Given the description of an element on the screen output the (x, y) to click on. 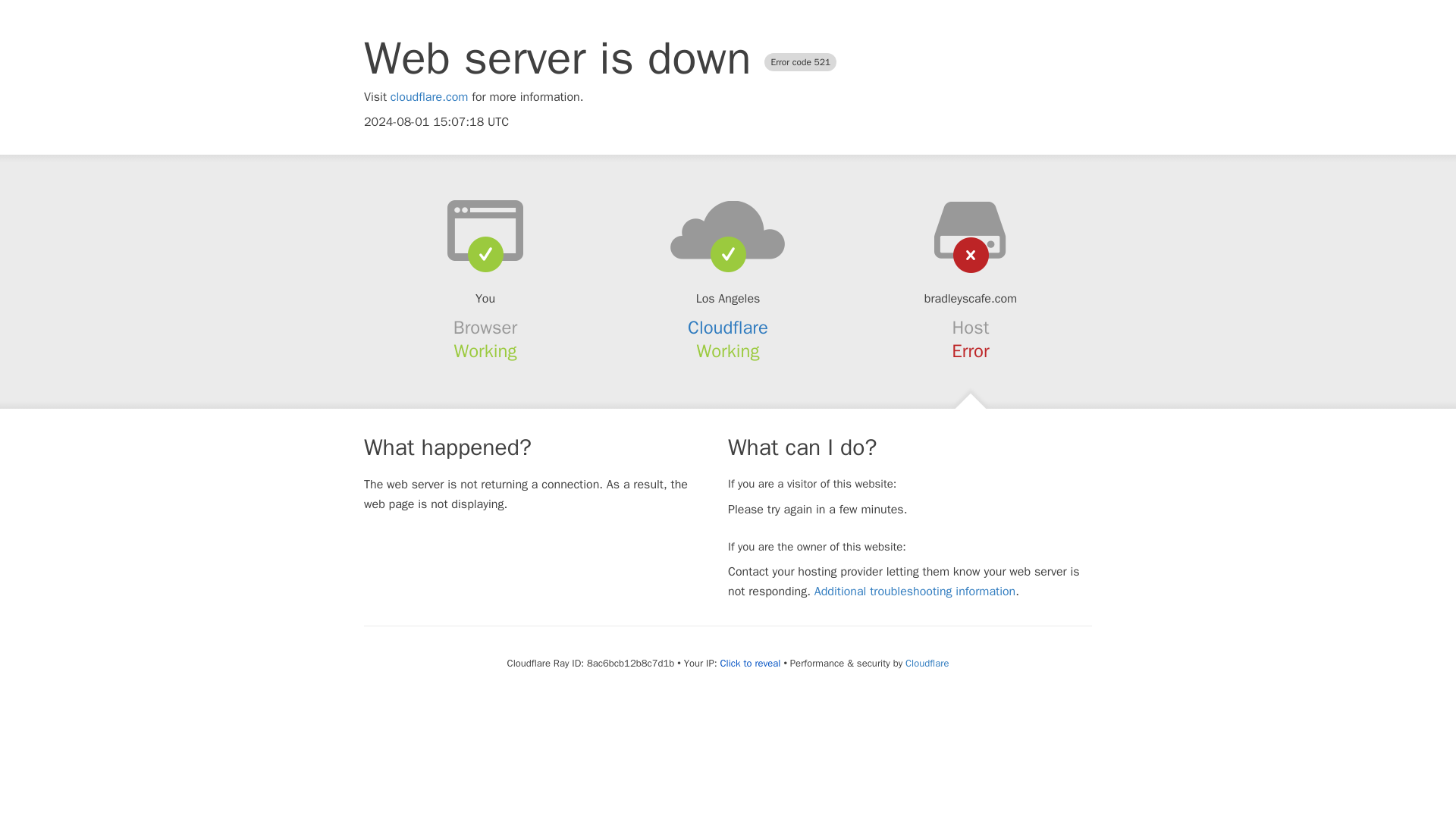
cloudflare.com (429, 96)
Click to reveal (750, 663)
Cloudflare (727, 327)
Additional troubleshooting information (913, 590)
Cloudflare (927, 662)
